Given the description of an element on the screen output the (x, y) to click on. 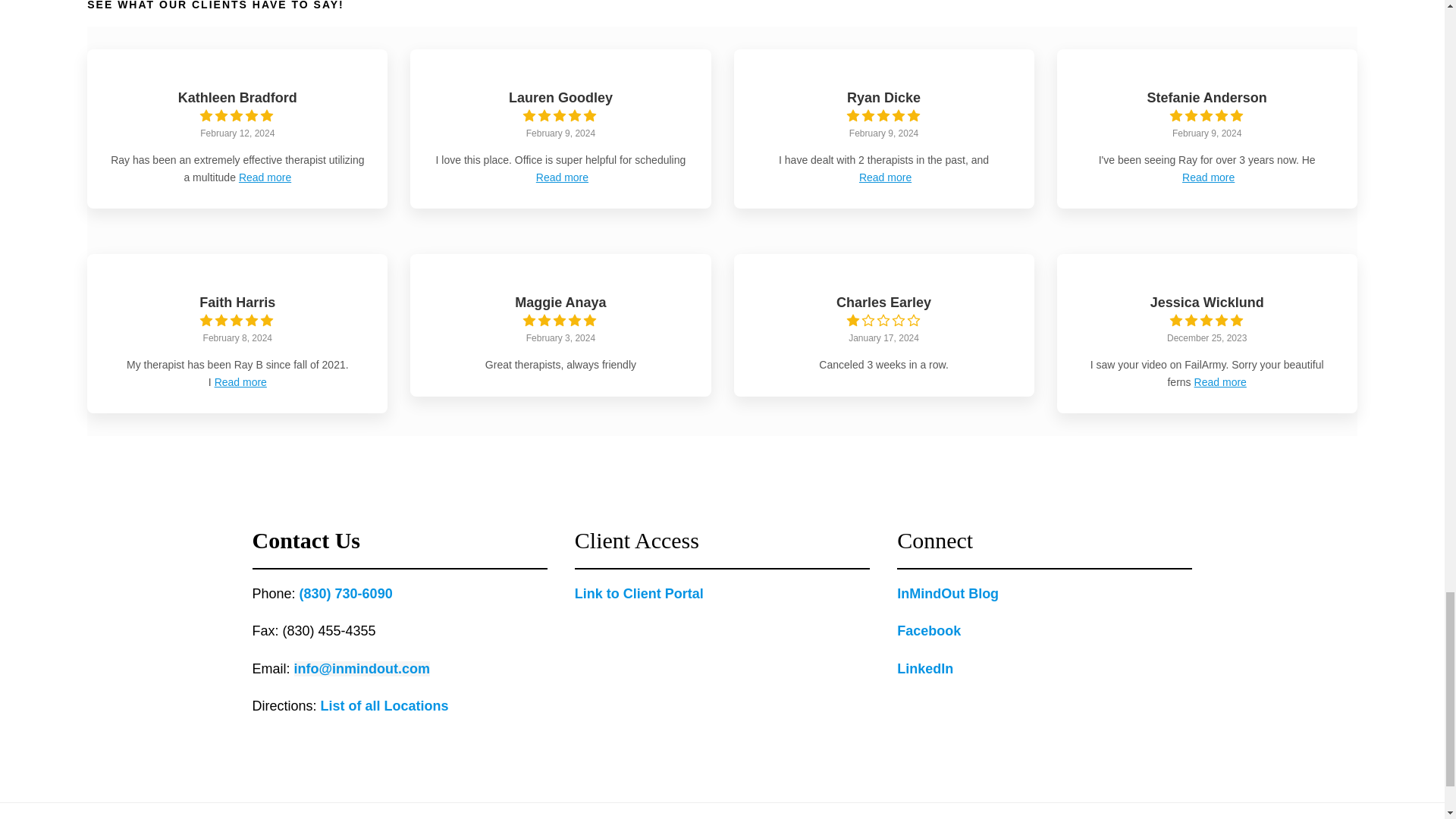
Kathleen Bradford (237, 97)
Ryan Dicke (883, 97)
Lauren Goodley (560, 97)
